Given the description of an element on the screen output the (x, y) to click on. 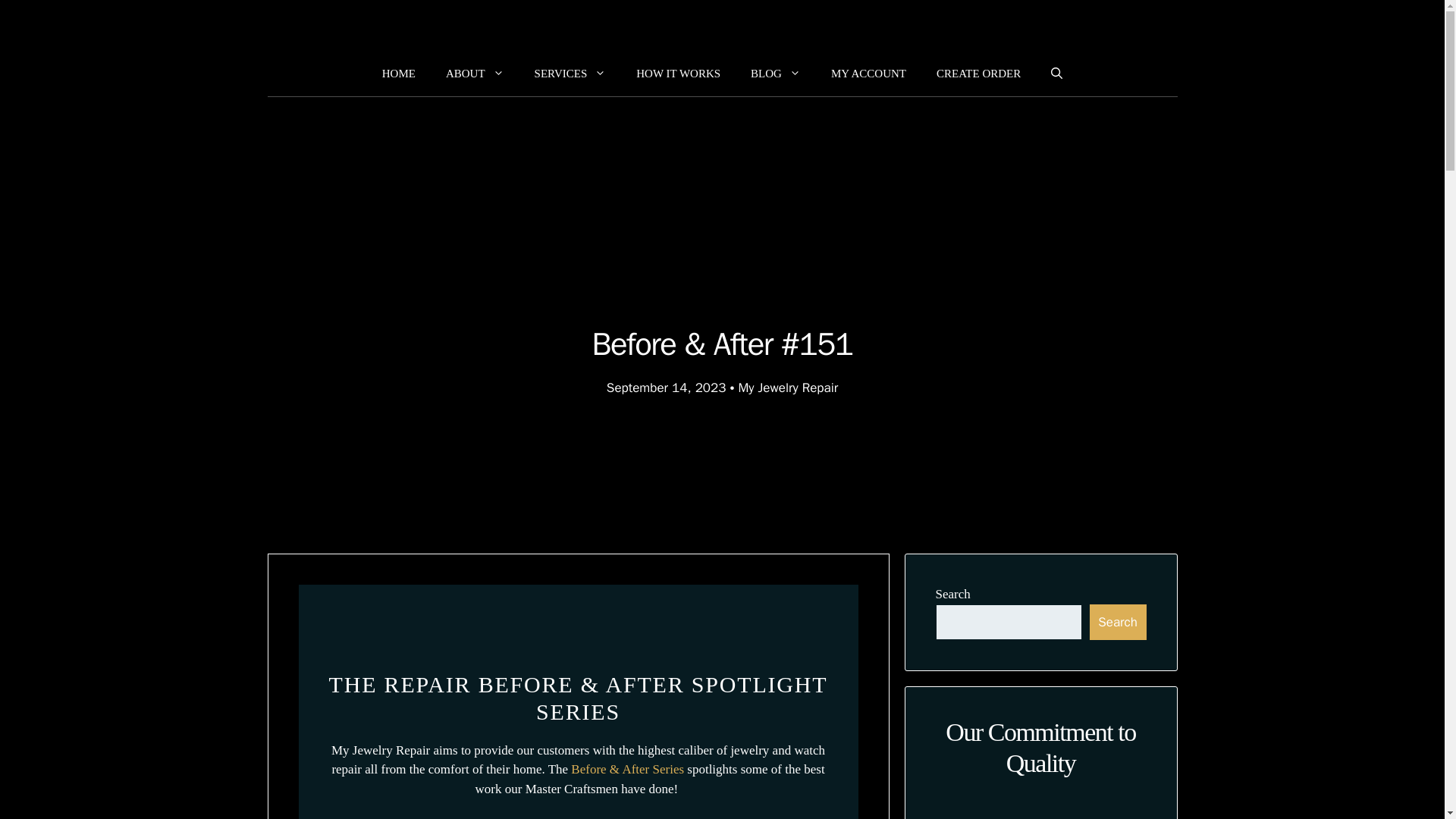
ABOUT (474, 73)
BLOG (775, 73)
Home (398, 73)
HOW IT WORKS (678, 73)
HOME (398, 73)
SERVICES (570, 73)
